Given the description of an element on the screen output the (x, y) to click on. 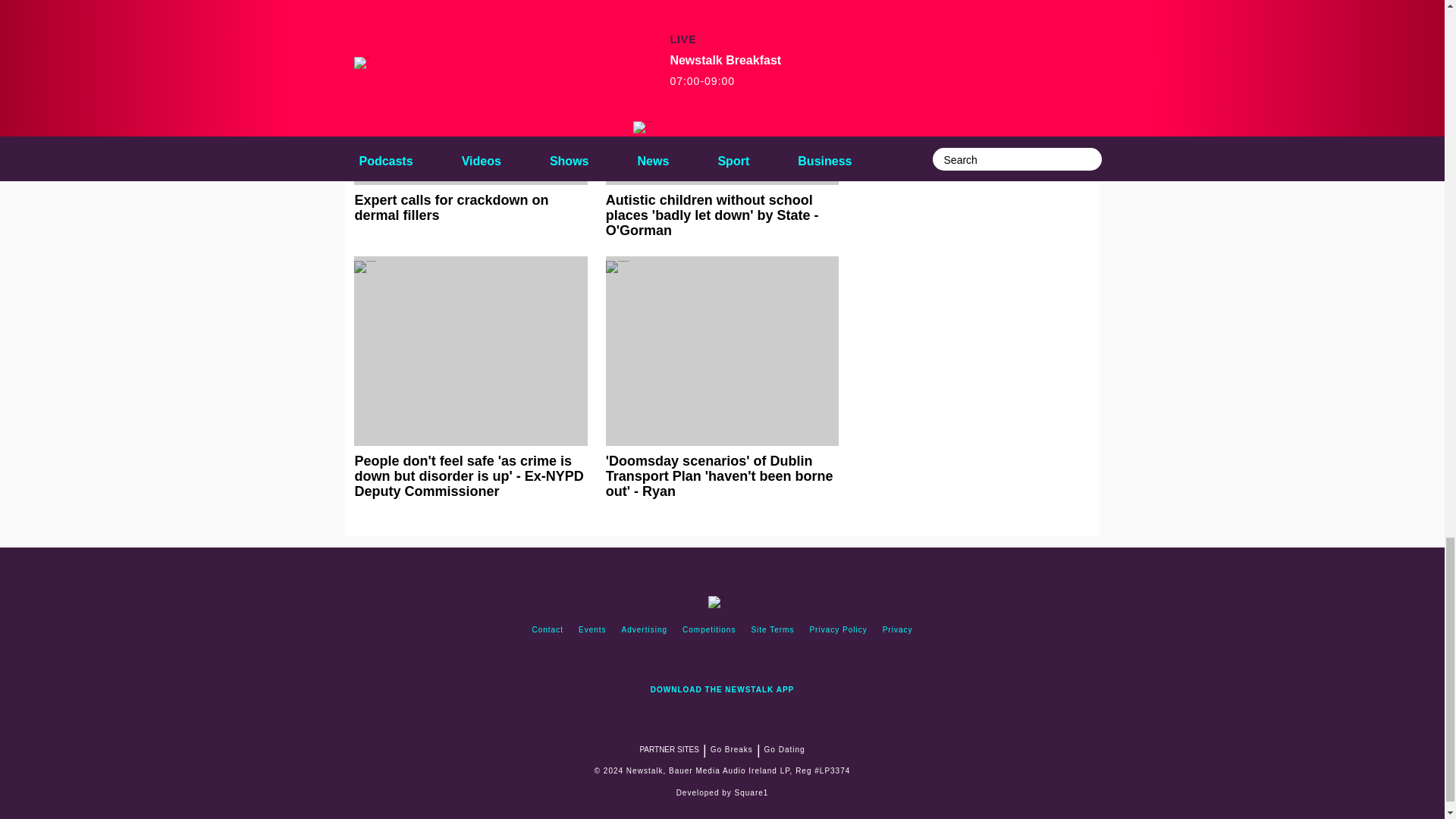
advertising (644, 629)
site terms (772, 629)
Privacy (897, 629)
events (592, 629)
Privacy Policy (838, 629)
competitions (708, 629)
contact (547, 629)
Expert calls for crackdown on dermal fillers (469, 111)
